Given the description of an element on the screen output the (x, y) to click on. 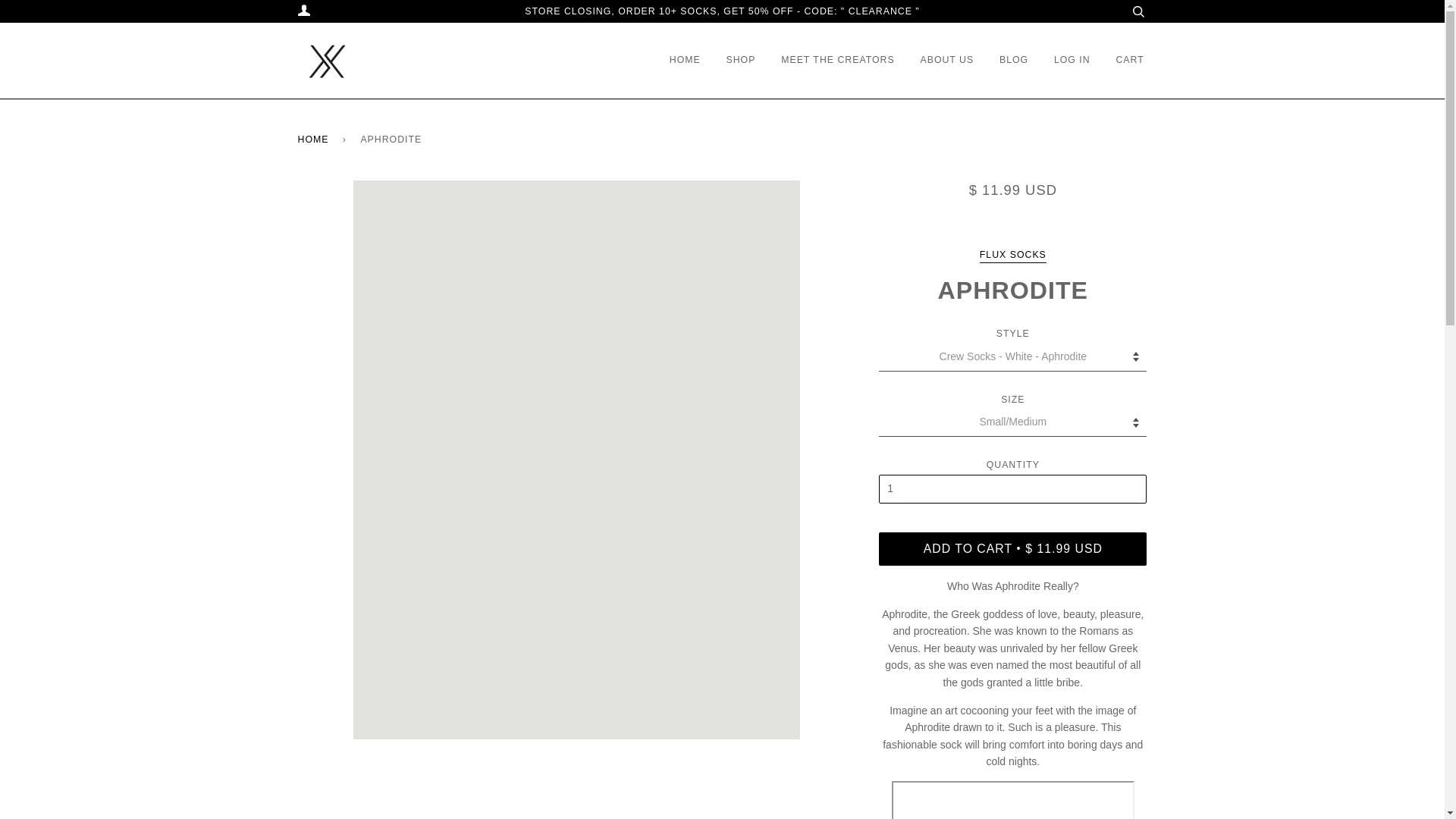
Back to the frontpage (315, 140)
1 (1013, 489)
